Given the description of an element on the screen output the (x, y) to click on. 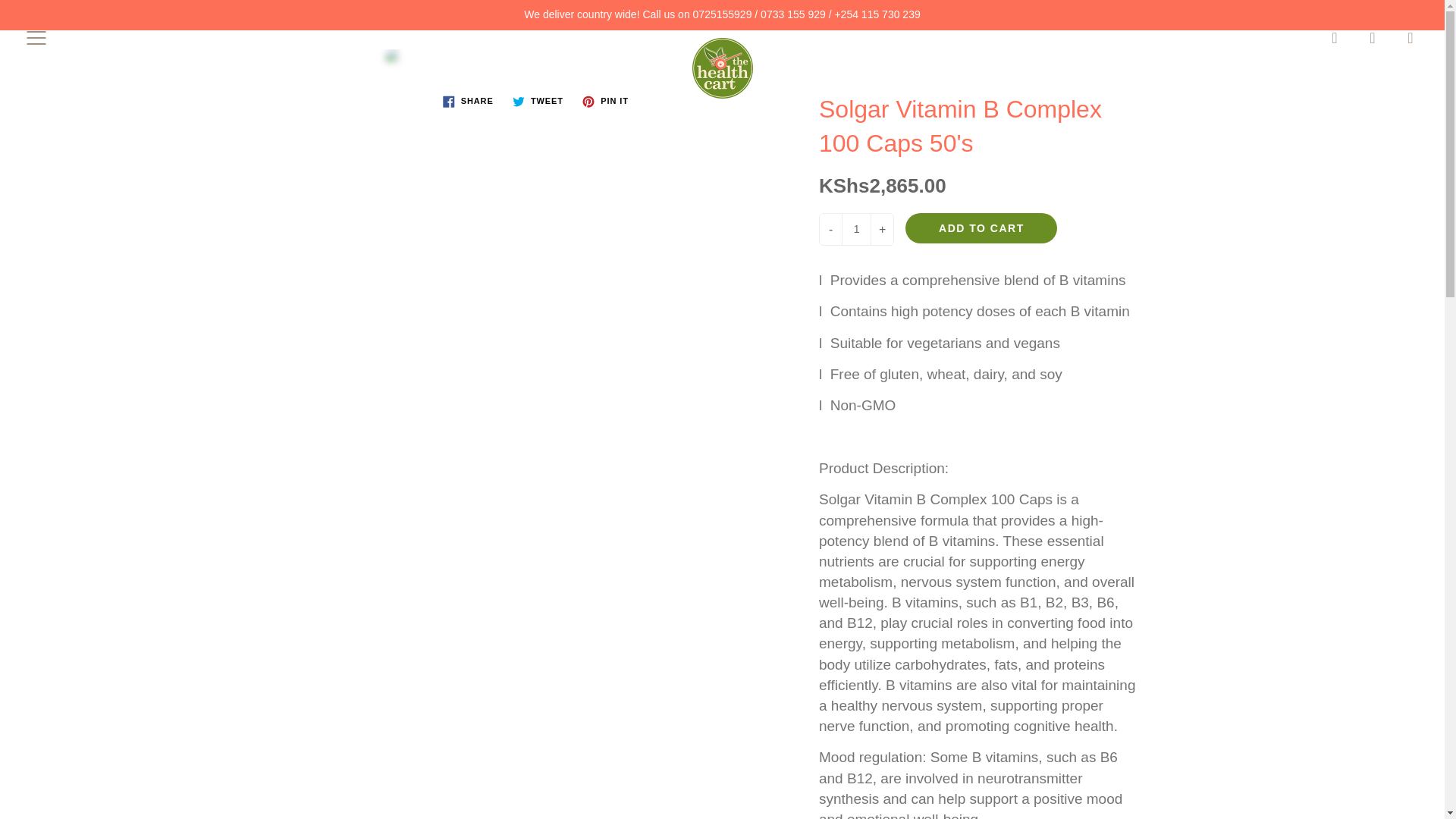
Solgar Vitamin B Complex 100 Caps 50's (536, 64)
You have 0 items in your cart (1410, 37)
Share on Facebook (467, 101)
Search (1334, 37)
Pin on Pinterest (604, 101)
My account (1372, 37)
Press space bar to toggle menu (36, 37)
1 (855, 228)
Tweet on Twitter (537, 101)
